Given the description of an element on the screen output the (x, y) to click on. 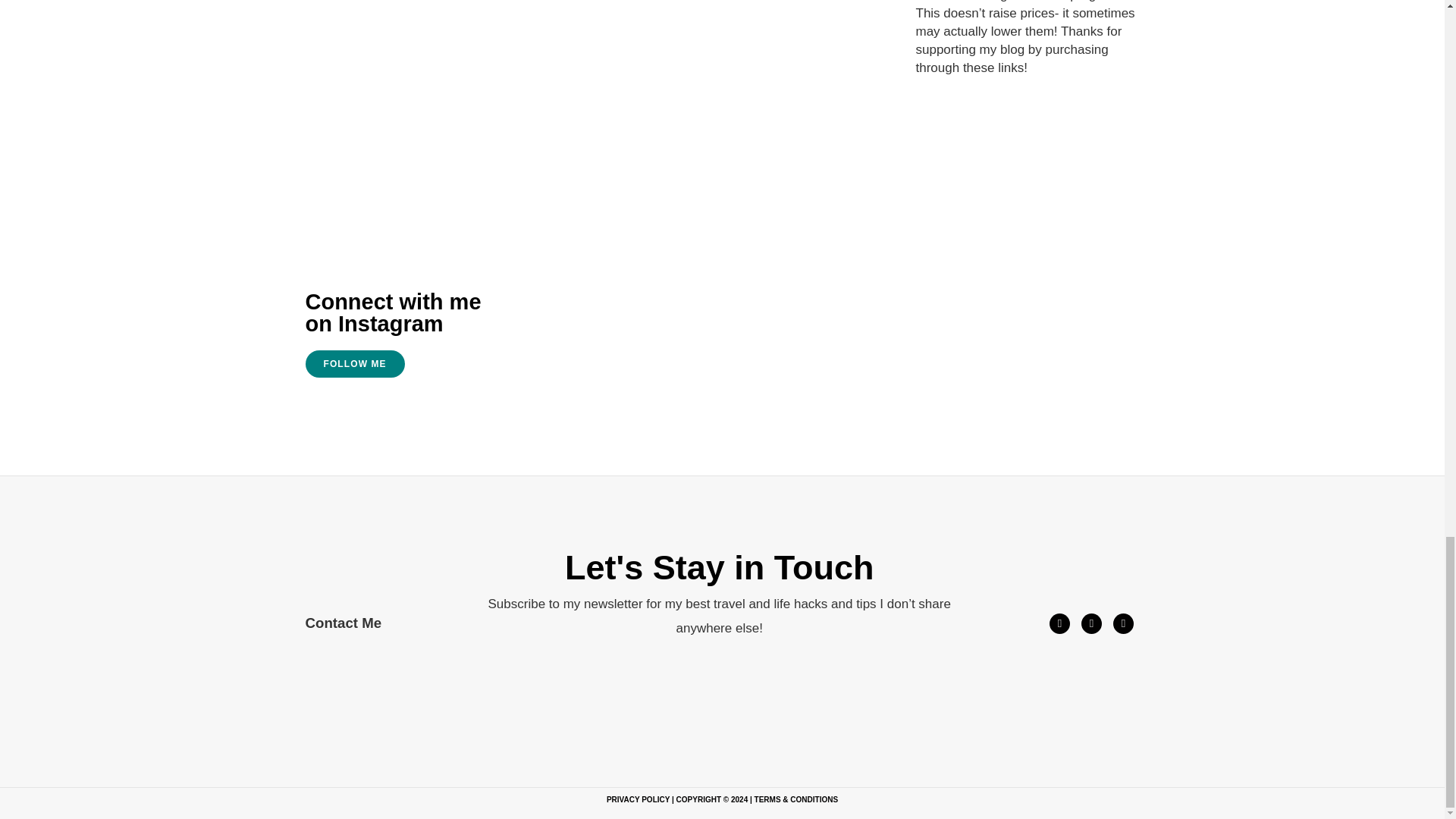
couple-at-trocadero-eiffel-tower-photo-spot (808, 347)
laguna-kaan-luum-heart (1046, 270)
bluebonnet-sunrise-texas (592, 327)
